Given the description of an element on the screen output the (x, y) to click on. 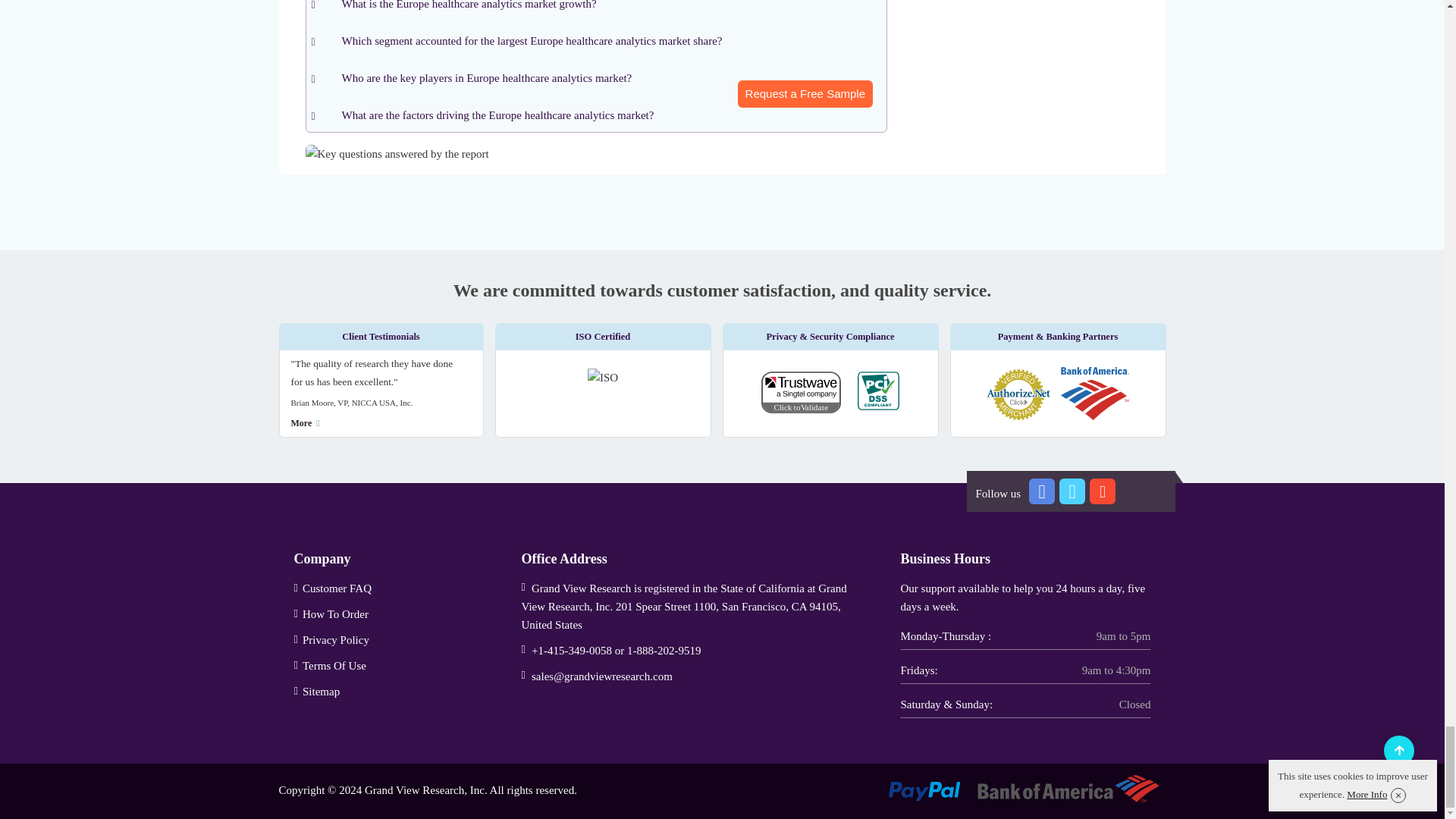
Click to Validate (808, 395)
